Given the description of an element on the screen output the (x, y) to click on. 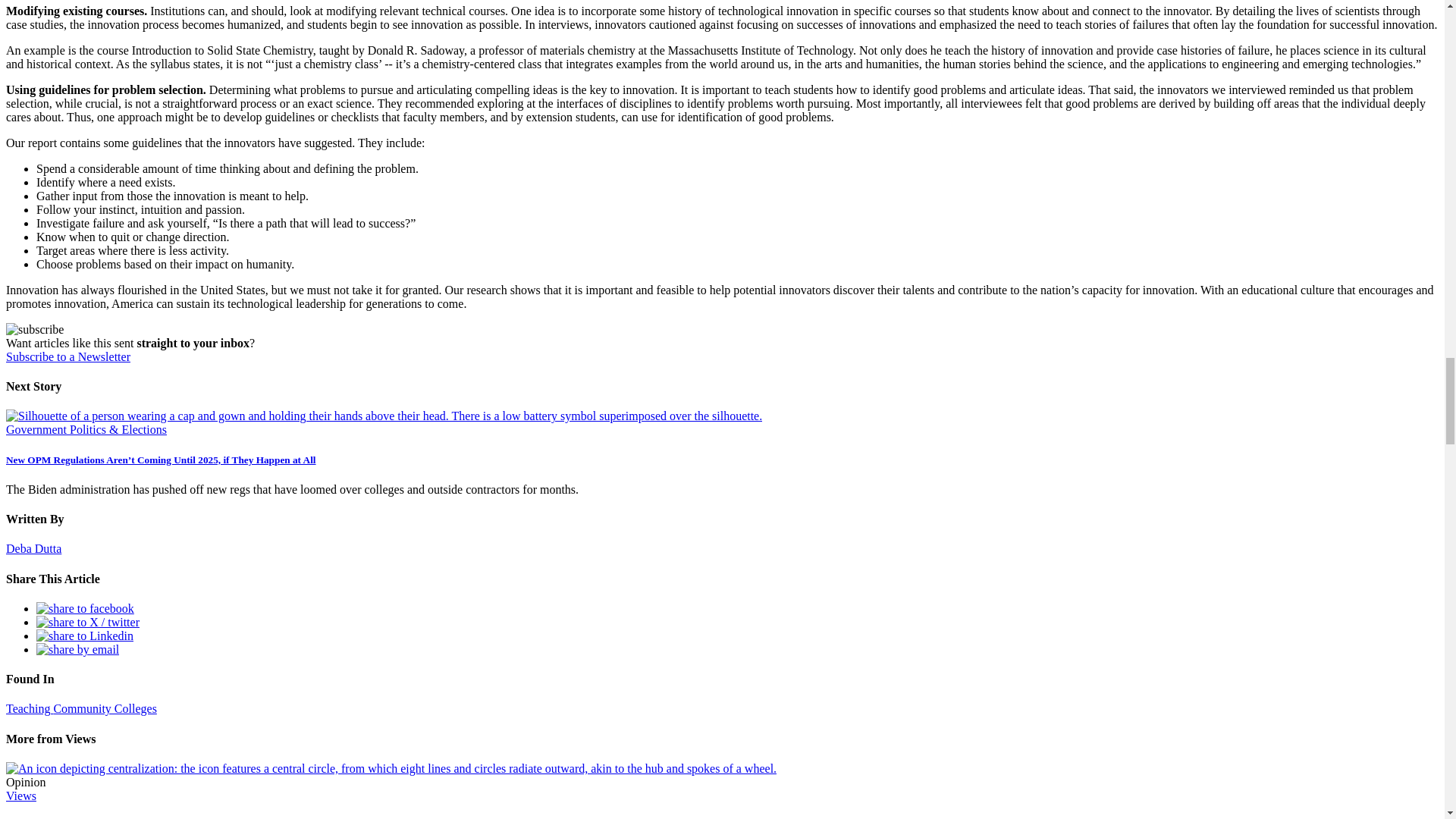
share to facebook (84, 608)
